Given the description of an element on the screen output the (x, y) to click on. 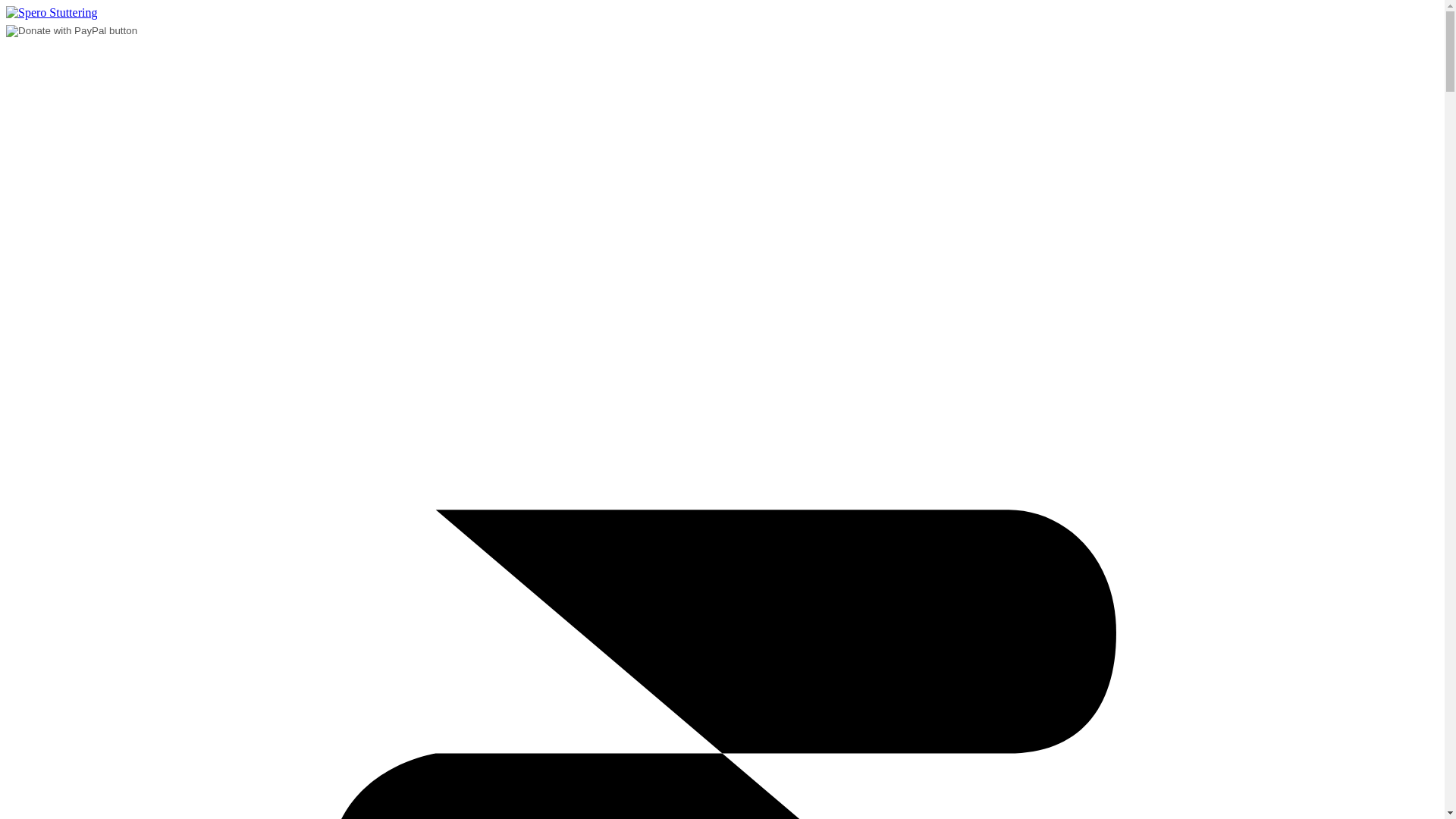
PayPal - The safer, easier way to pay online! (70, 30)
